Given the description of an element on the screen output the (x, y) to click on. 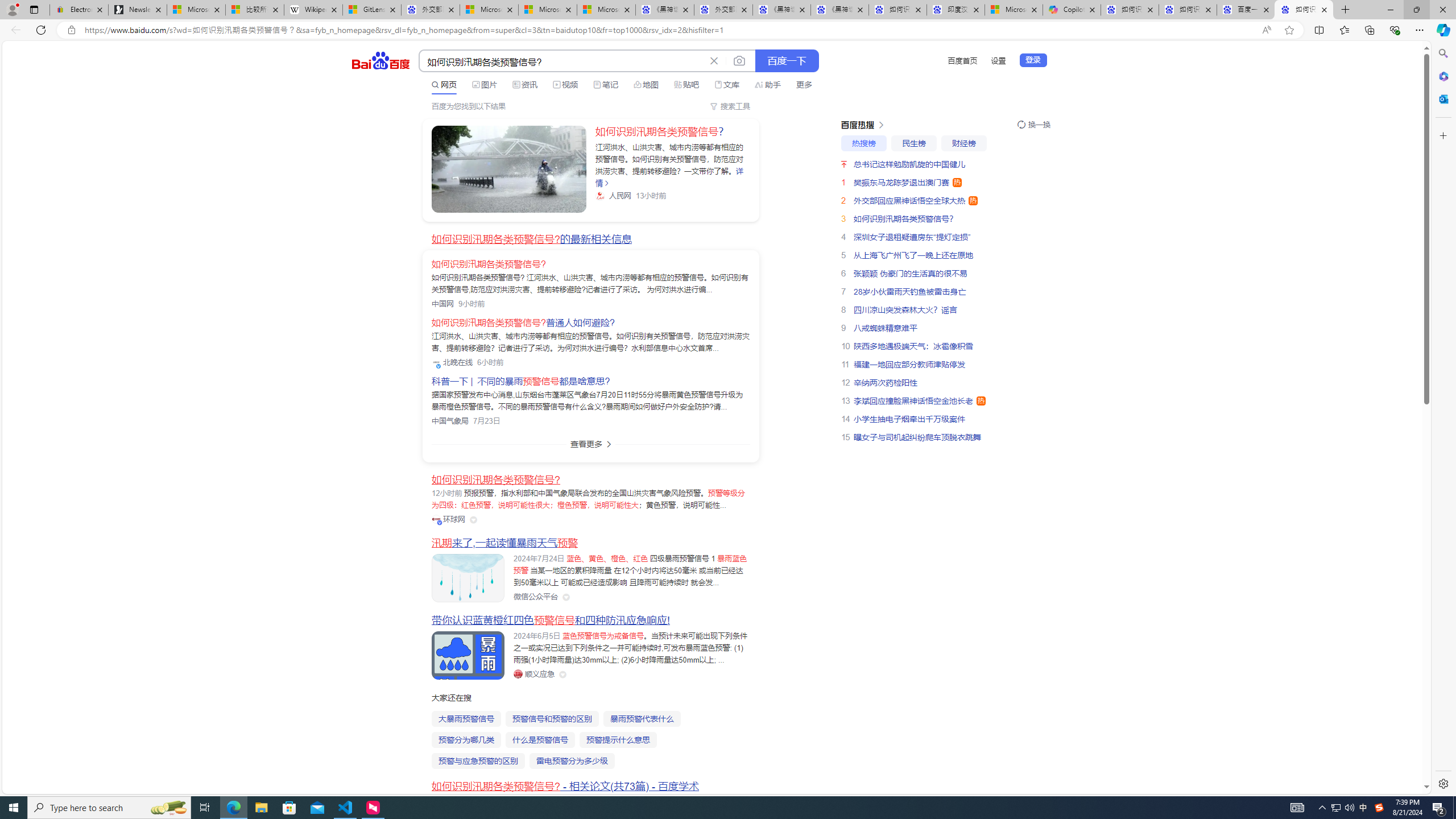
Class: vip-icon_kNmNt (439, 522)
